Given the description of an element on the screen output the (x, y) to click on. 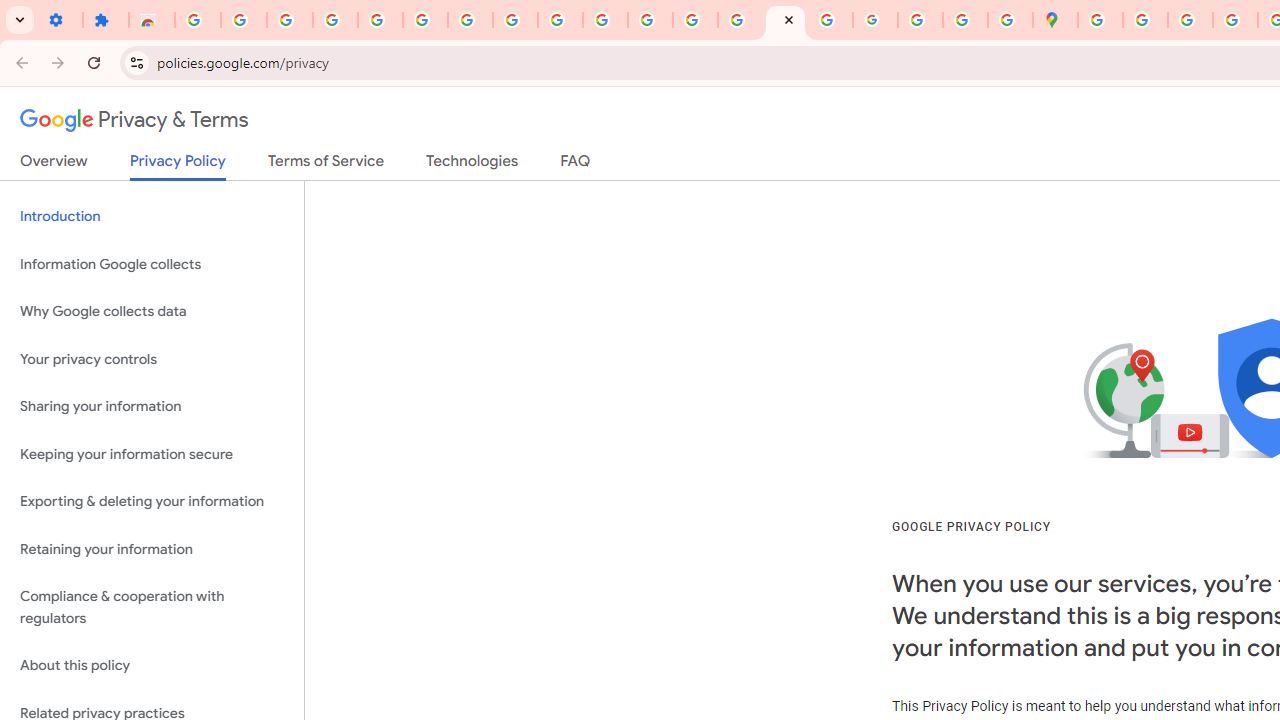
Information Google collects (152, 263)
Create your Google Account (1190, 20)
https://scholar.google.com/ (605, 20)
Exporting & deleting your information (152, 502)
Why Google collects data (152, 312)
Sharing your information (152, 407)
